Given the description of an element on the screen output the (x, y) to click on. 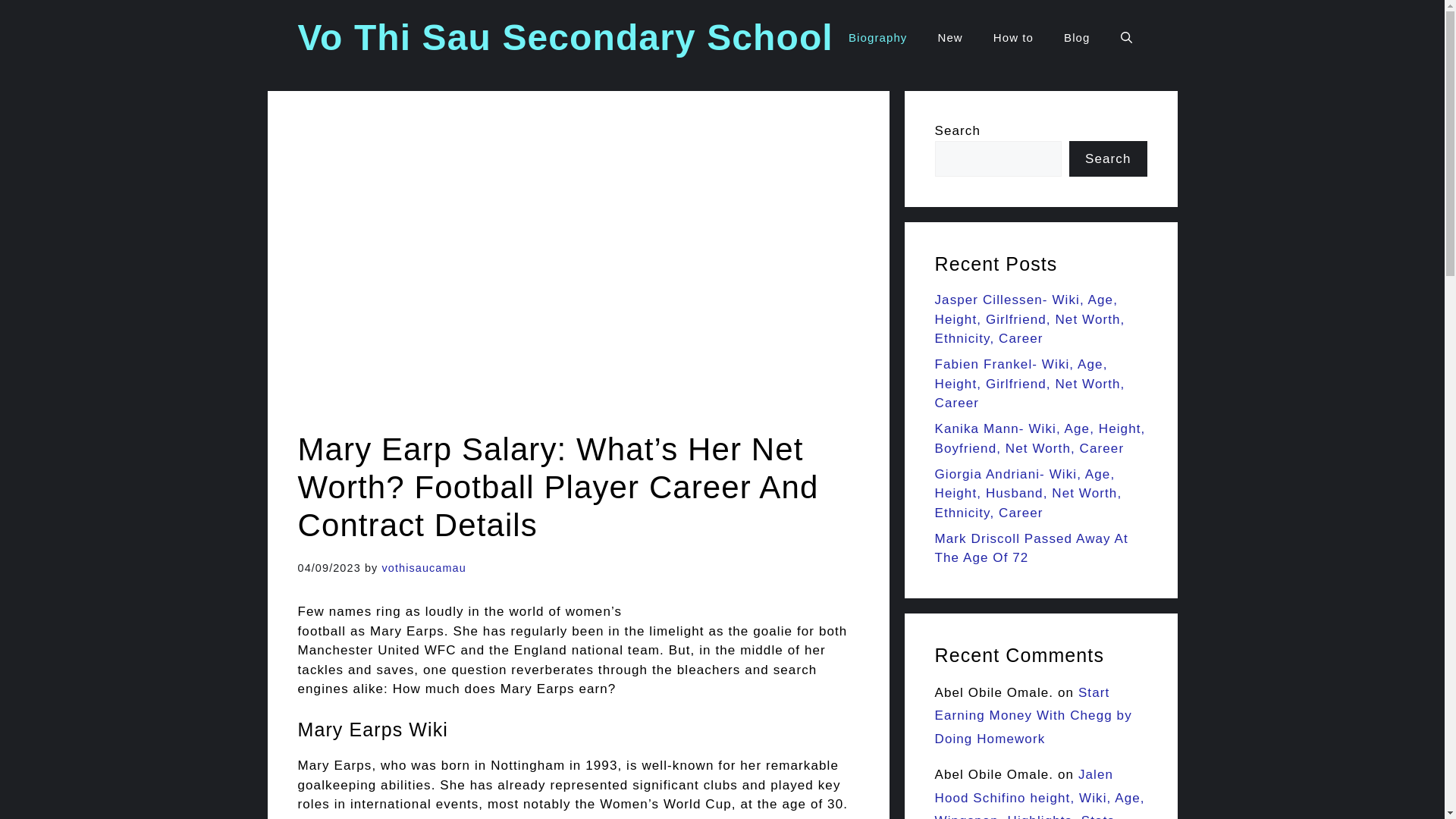
Vo Thi Sau Secondary School (564, 37)
New (948, 37)
Blog (1076, 37)
Start Earning Money With Chegg by Doing Homework (1032, 715)
Mark Driscoll Passed Away At The Age Of 72 (1030, 547)
Biography (876, 37)
